Given the description of an element on the screen output the (x, y) to click on. 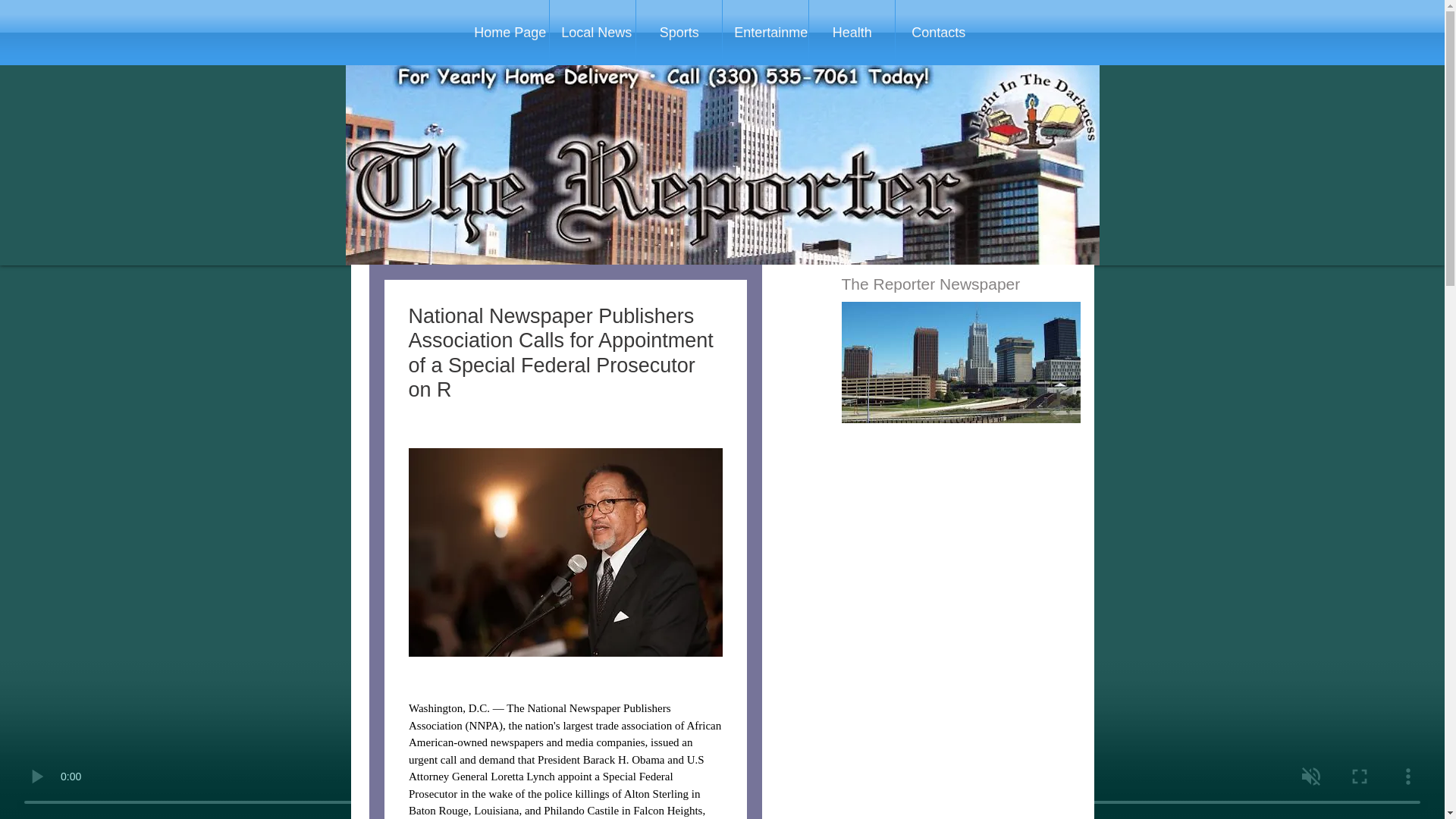
Home Page (505, 32)
Sports (679, 32)
Contacts (938, 32)
Local News (592, 32)
Entertainment (765, 32)
Health (852, 32)
